Given the description of an element on the screen output the (x, y) to click on. 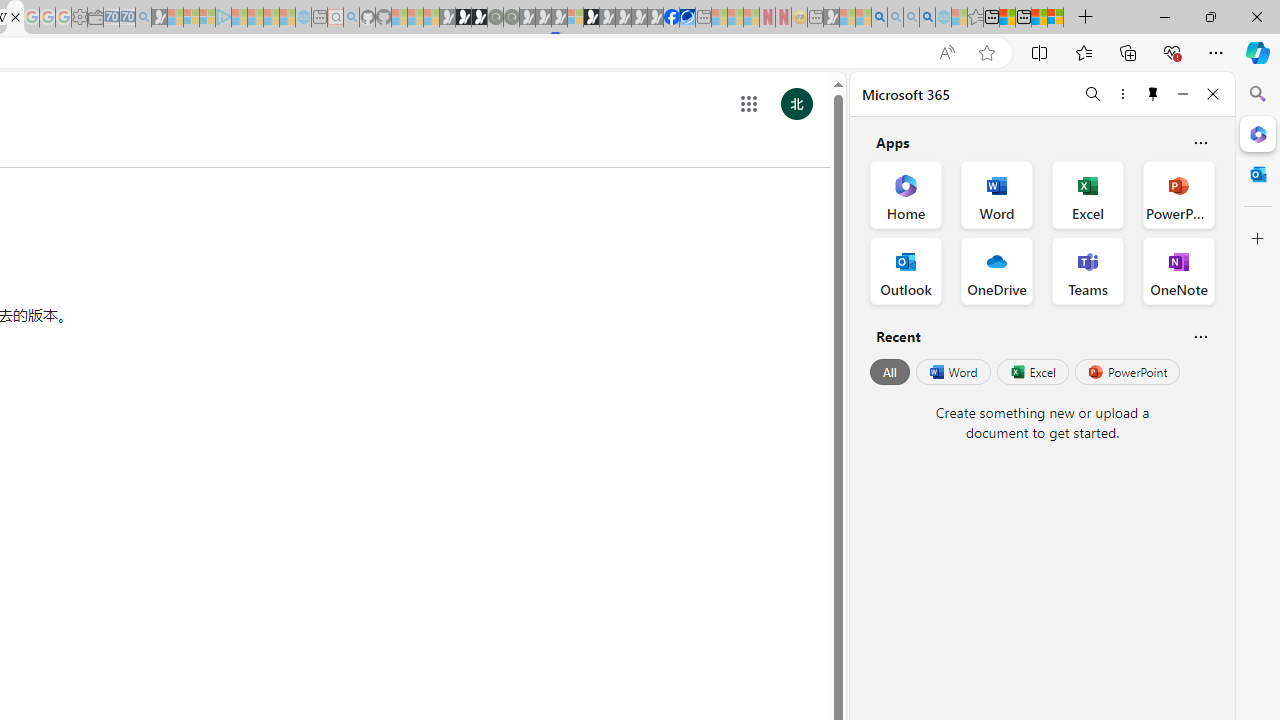
AirNow.gov (687, 17)
Favorites - Sleeping (975, 17)
Home Office App (906, 194)
Close Microsoft 365 pane (1258, 133)
Sign in to your account - Sleeping (575, 17)
Wallet - Sleeping (95, 17)
Settings - Sleeping (79, 17)
Aberdeen, Hong Kong SAR weather forecast | Microsoft Weather (1007, 17)
Microsoft account | Privacy (1055, 17)
